Given the description of an element on the screen output the (x, y) to click on. 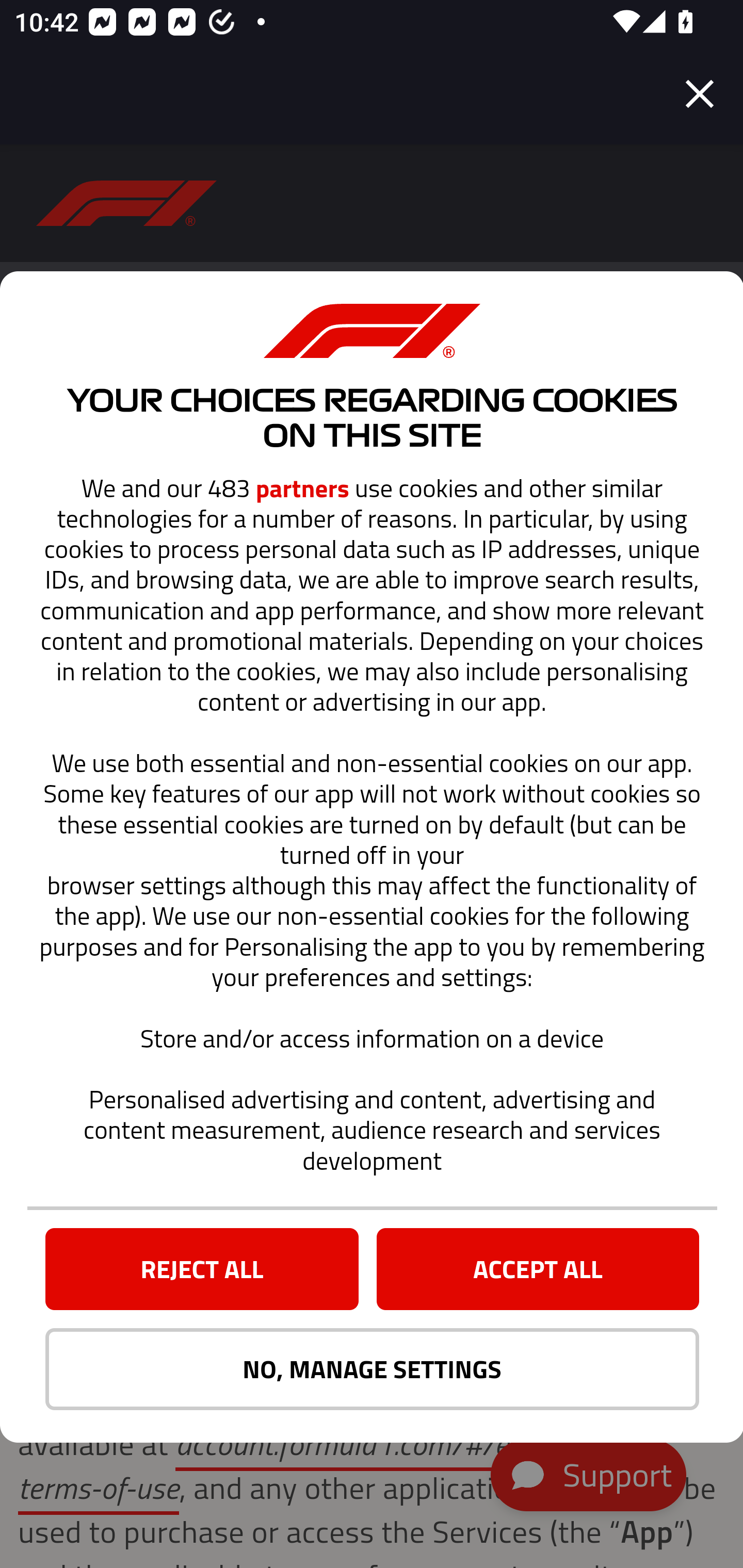
Close (699, 93)
Formula1 (127, 203)
partners (302, 488)
REJECT ALL (200, 1268)
ACCEPT ALL (537, 1268)
NO, MANAGE SETTINGS (371, 1368)
